Given the description of an element on the screen output the (x, y) to click on. 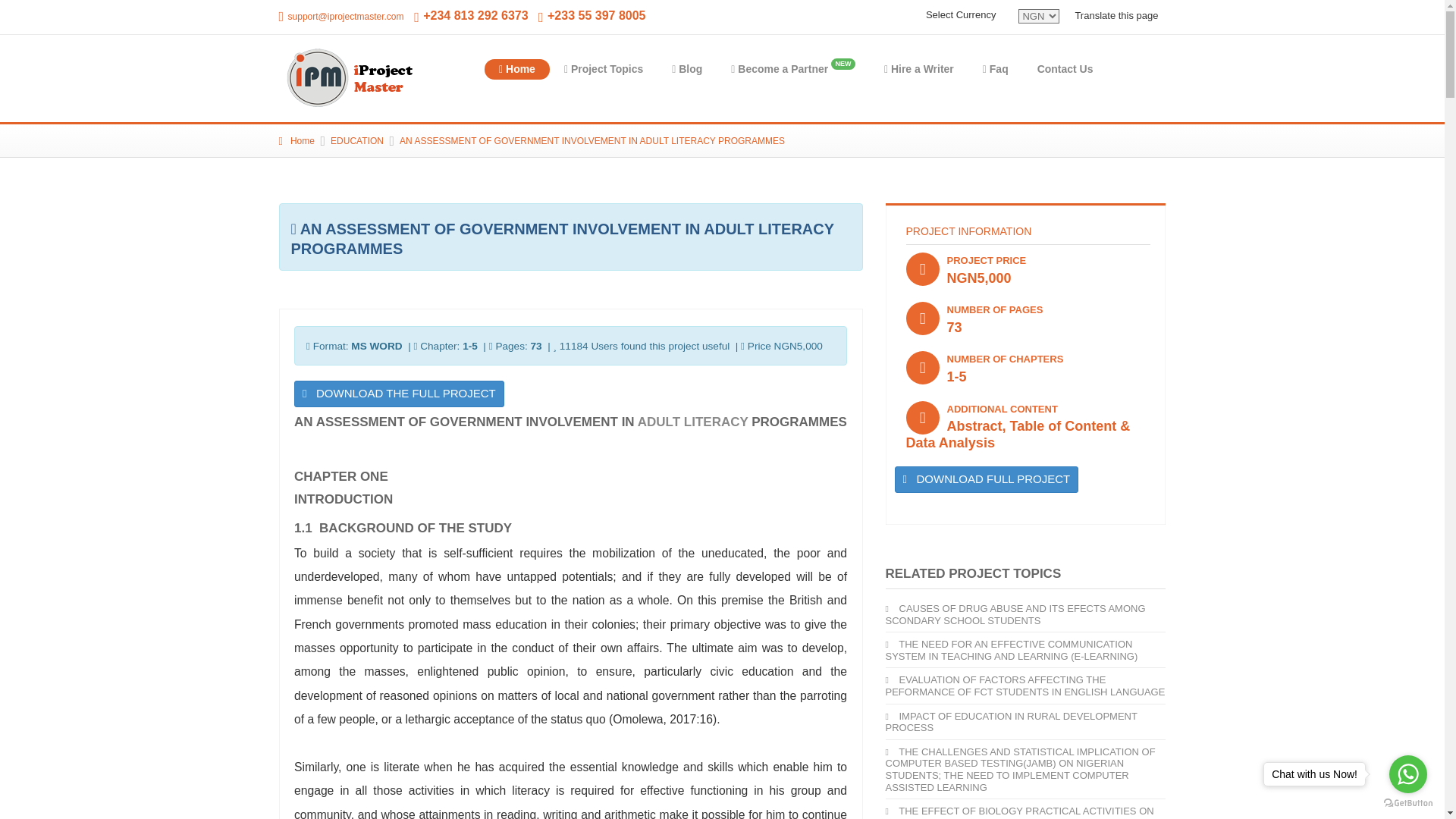
Project Topics (351, 77)
Home (296, 140)
Hire a Writer (918, 68)
Faq (995, 68)
Project Topics (604, 68)
Blog (687, 68)
  DOWNLOAD THE FULL PROJECT (398, 393)
Become a Partner NEW (792, 68)
IMPACT OF EDUCATION IN RURAL DEVELOPMENT PROCESS (1011, 721)
ADULT LITERACY (692, 421)
EDUCATION (357, 140)
Home (517, 68)
